Given the description of an element on the screen output the (x, y) to click on. 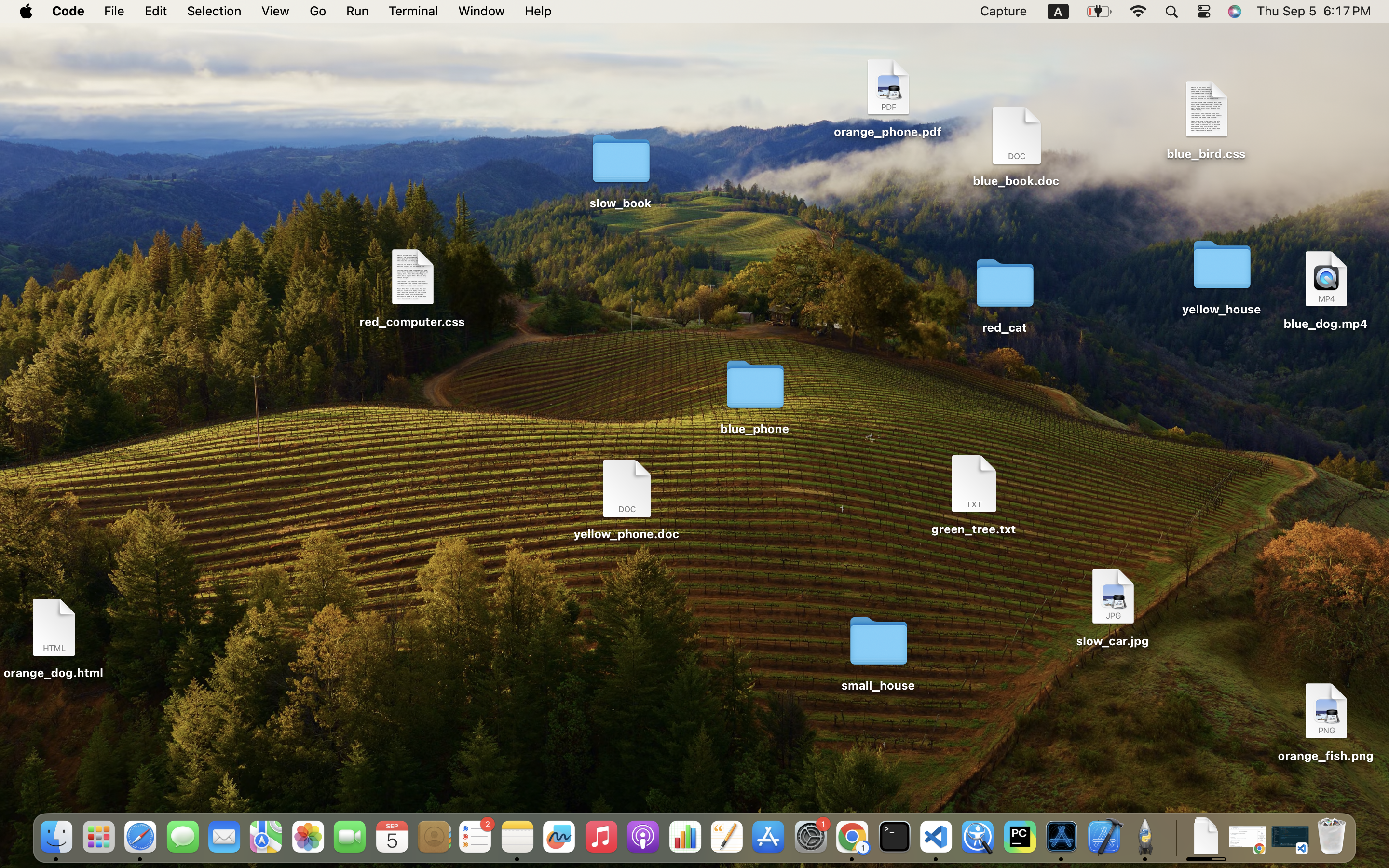
0.4285714328289032 Element type: AXDockItem (1175, 837)
